Given the description of an element on the screen output the (x, y) to click on. 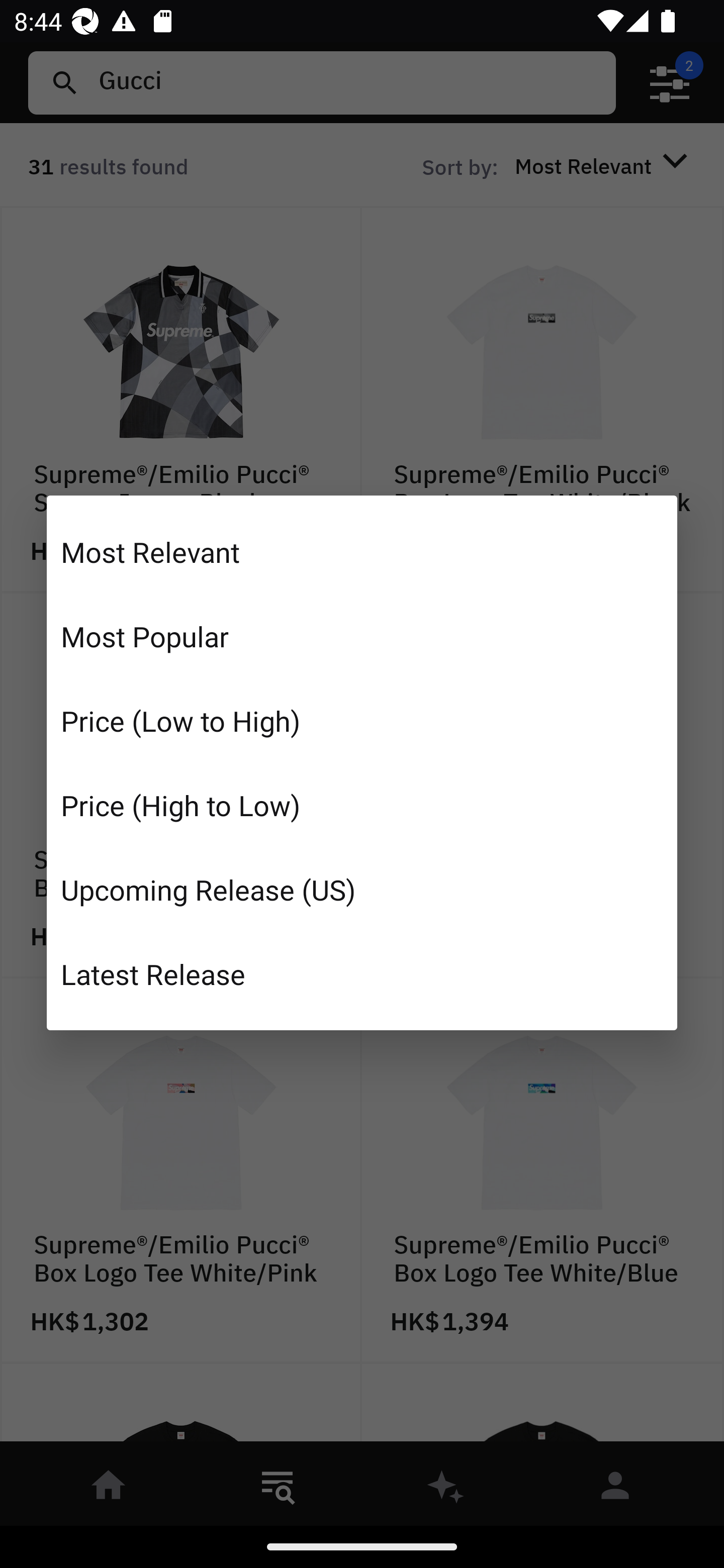
Most Relevant (361, 551)
Most Popular (361, 636)
Price (Low to High) (361, 720)
Price (High to Low) (361, 804)
Upcoming Release (US) (361, 888)
Latest Release (361, 973)
